Given the description of an element on the screen output the (x, y) to click on. 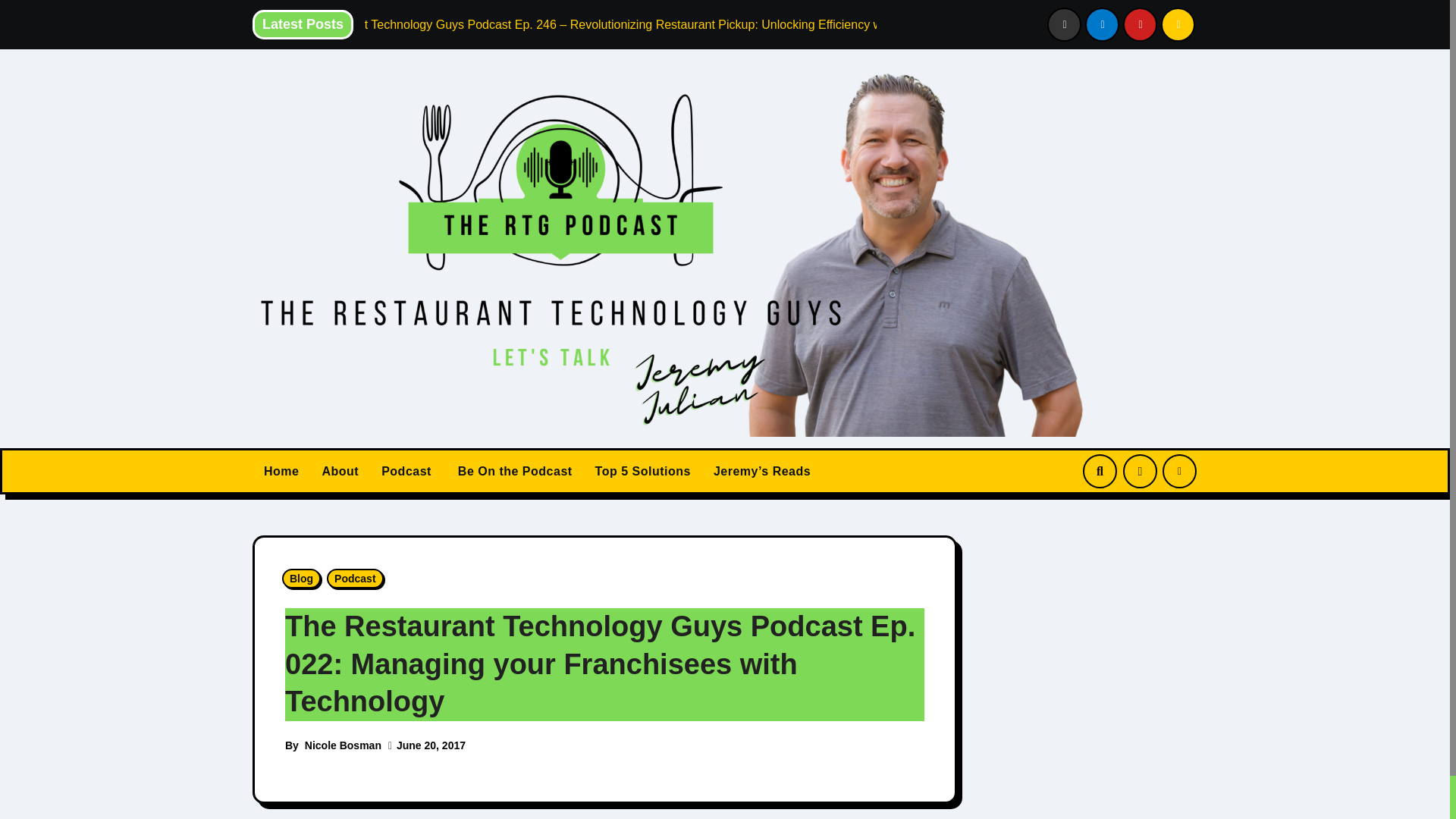
June 20, 2017 (430, 745)
Be On The Podcast (512, 472)
Home (280, 472)
Home (280, 472)
Top 5 Solutions (642, 472)
Top 5 Solutions (642, 472)
About (339, 472)
About (339, 472)
Podcast (405, 472)
Nicole Bosman (342, 745)
